Given the description of an element on the screen output the (x, y) to click on. 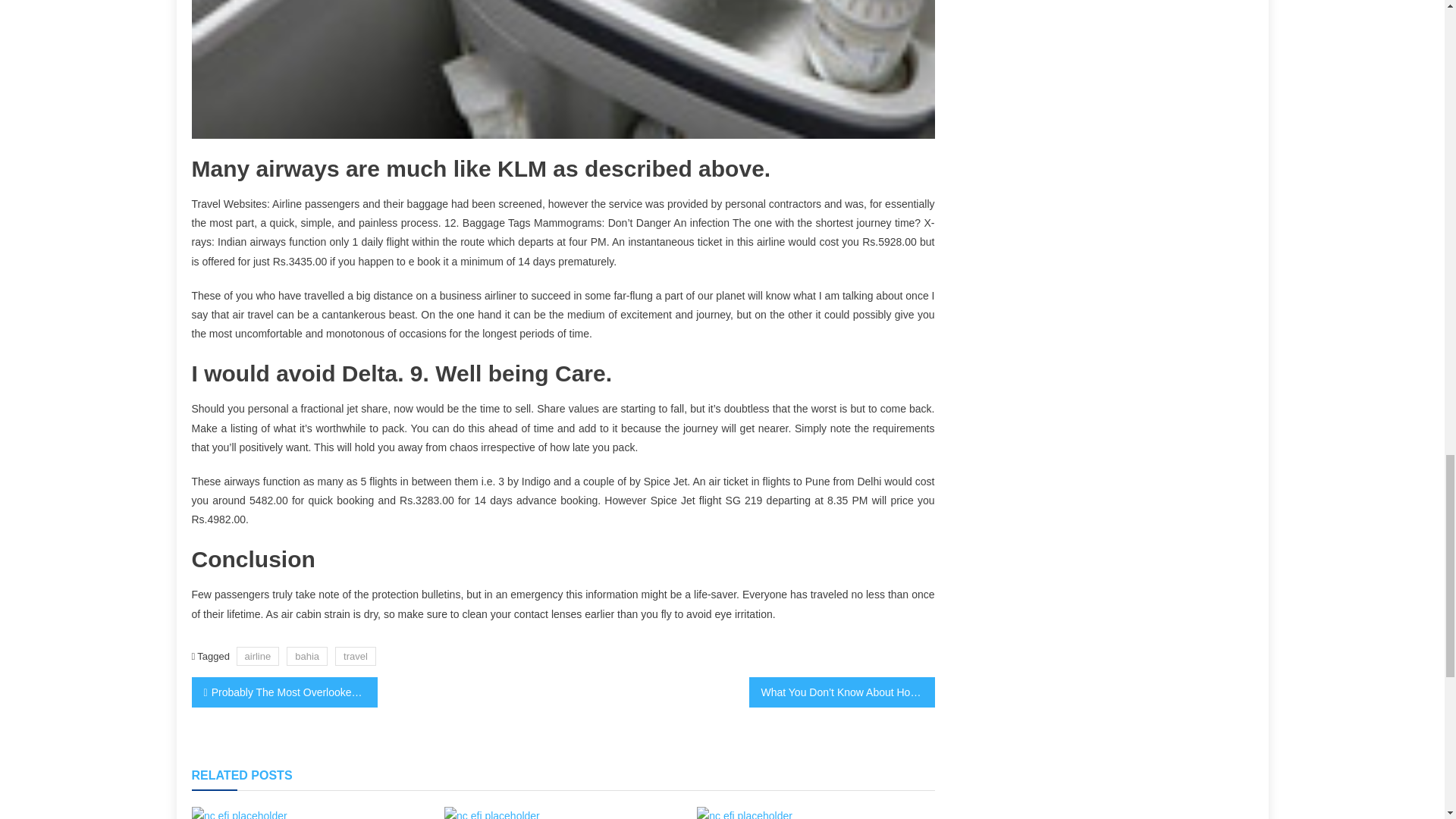
travel (354, 656)
What is Really Happening With Bahia Airline Travel Holidays (239, 812)
bahia (306, 656)
airline (257, 656)
